Given the description of an element on the screen output the (x, y) to click on. 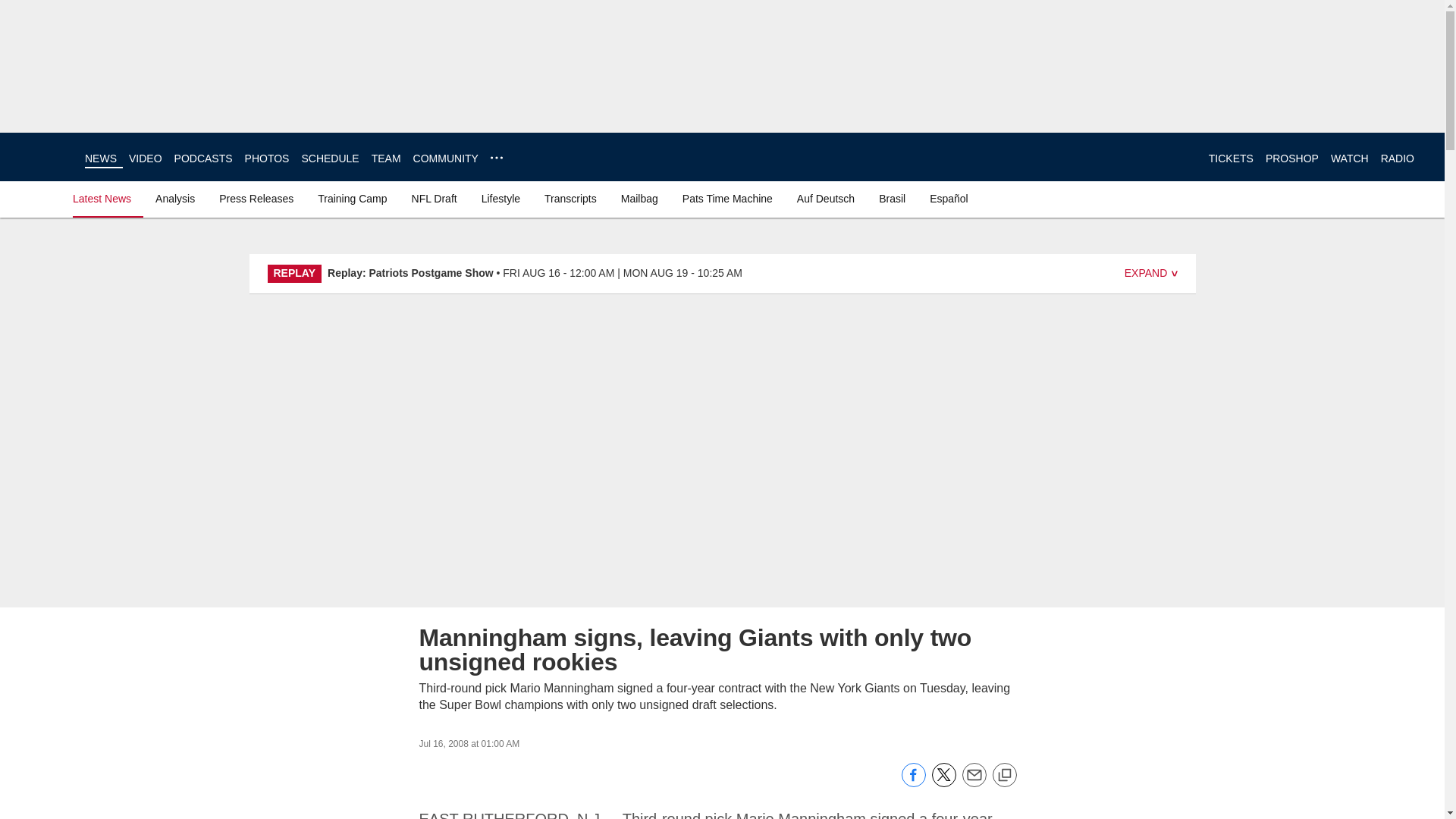
SCHEDULE (329, 158)
NFL Draft (434, 198)
Mailbag (638, 198)
Press Releases (255, 198)
RADIO (1396, 158)
TEAM (386, 158)
COMMUNITY (446, 158)
COMMUNITY (446, 158)
TEAM (386, 158)
PROSHOP (1292, 158)
